Given the description of an element on the screen output the (x, y) to click on. 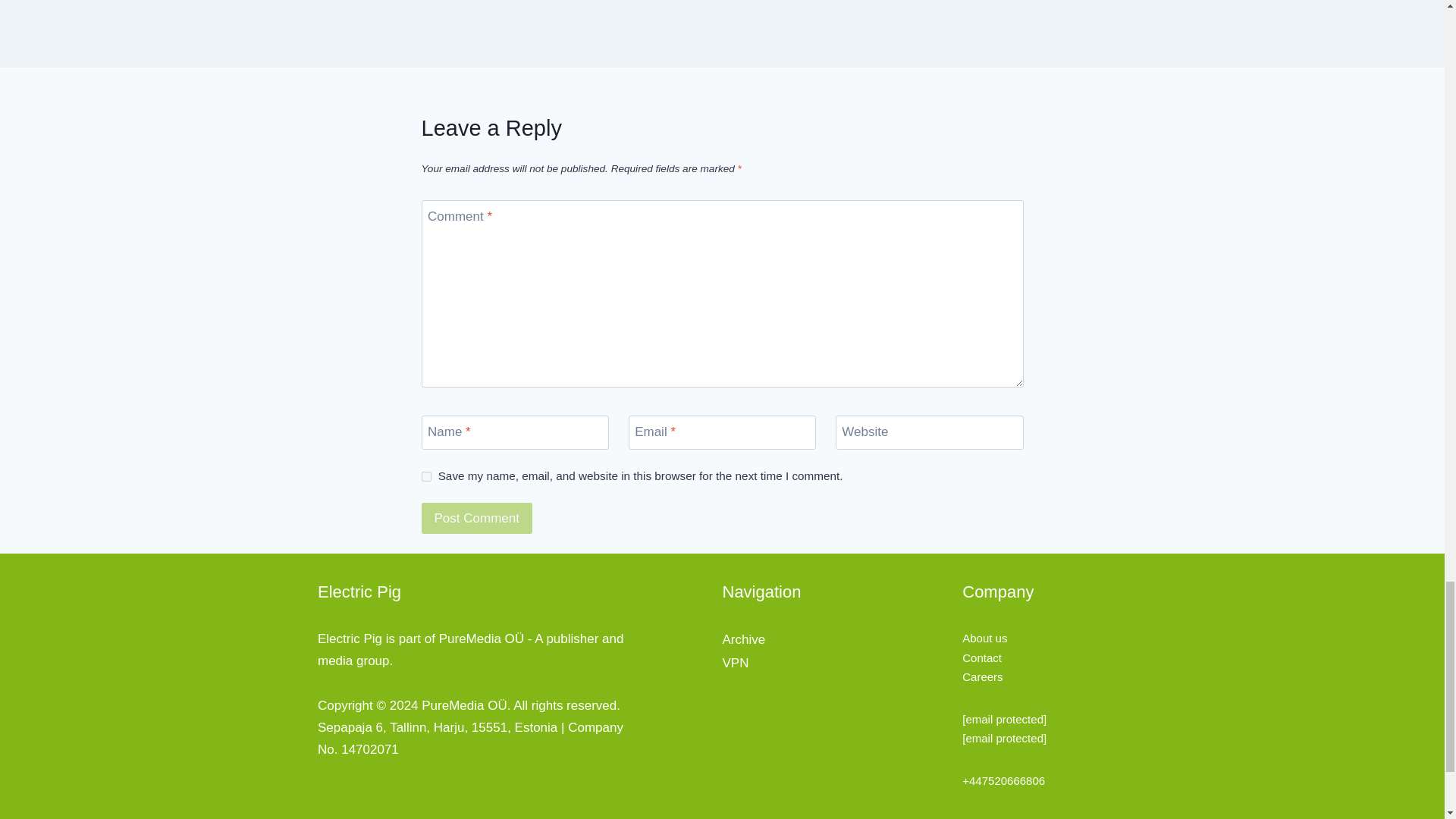
Post Comment (477, 517)
Post Comment (477, 517)
Careers (982, 676)
VPN (735, 663)
About us (984, 637)
yes (426, 476)
Contact (981, 657)
Archive (743, 639)
